Given the description of an element on the screen output the (x, y) to click on. 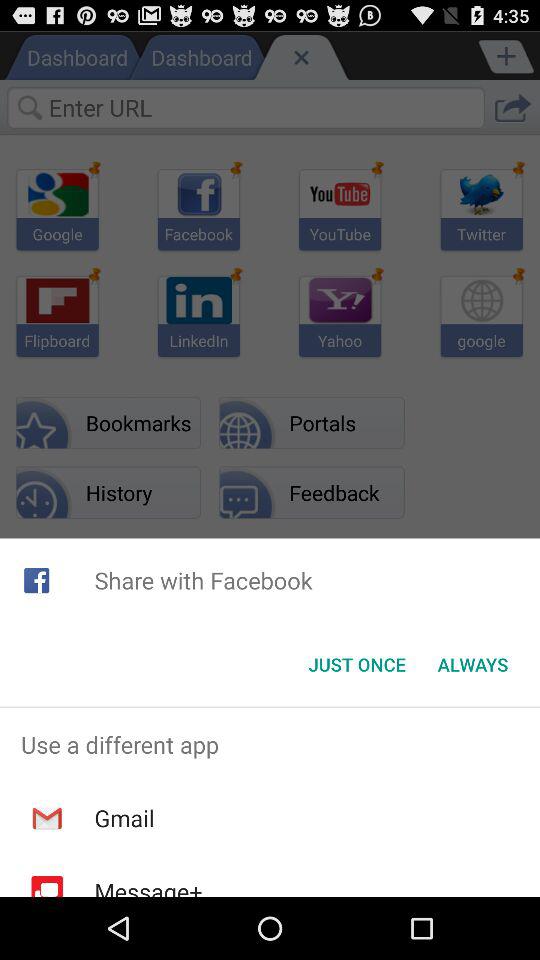
swipe until use a different icon (270, 744)
